Given the description of an element on the screen output the (x, y) to click on. 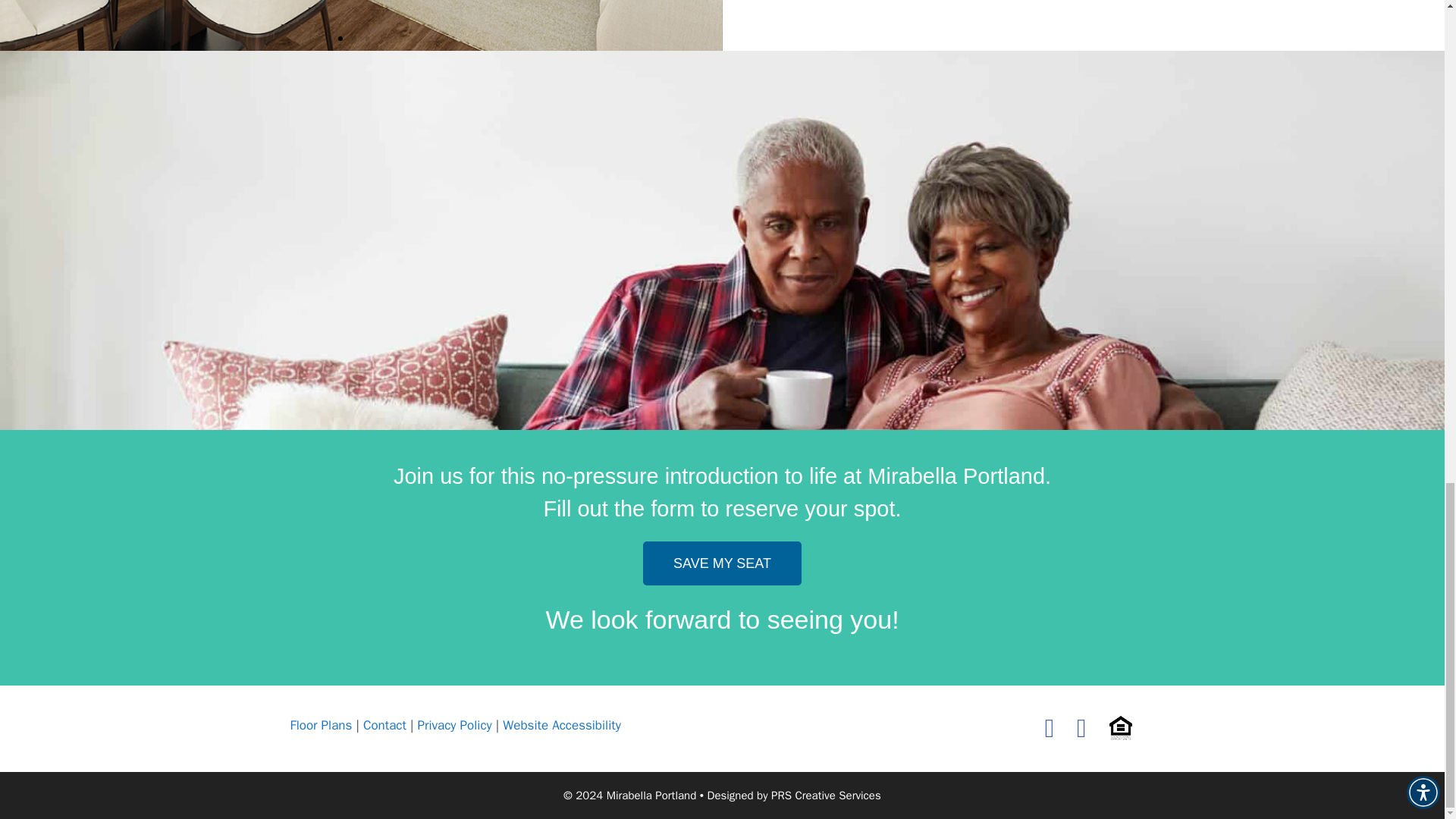
Privacy Policy  (456, 725)
Contact (386, 725)
Floor Plans (320, 725)
SAVE MY SEAT (722, 563)
Website Accessibility (561, 725)
